Given the description of an element on the screen output the (x, y) to click on. 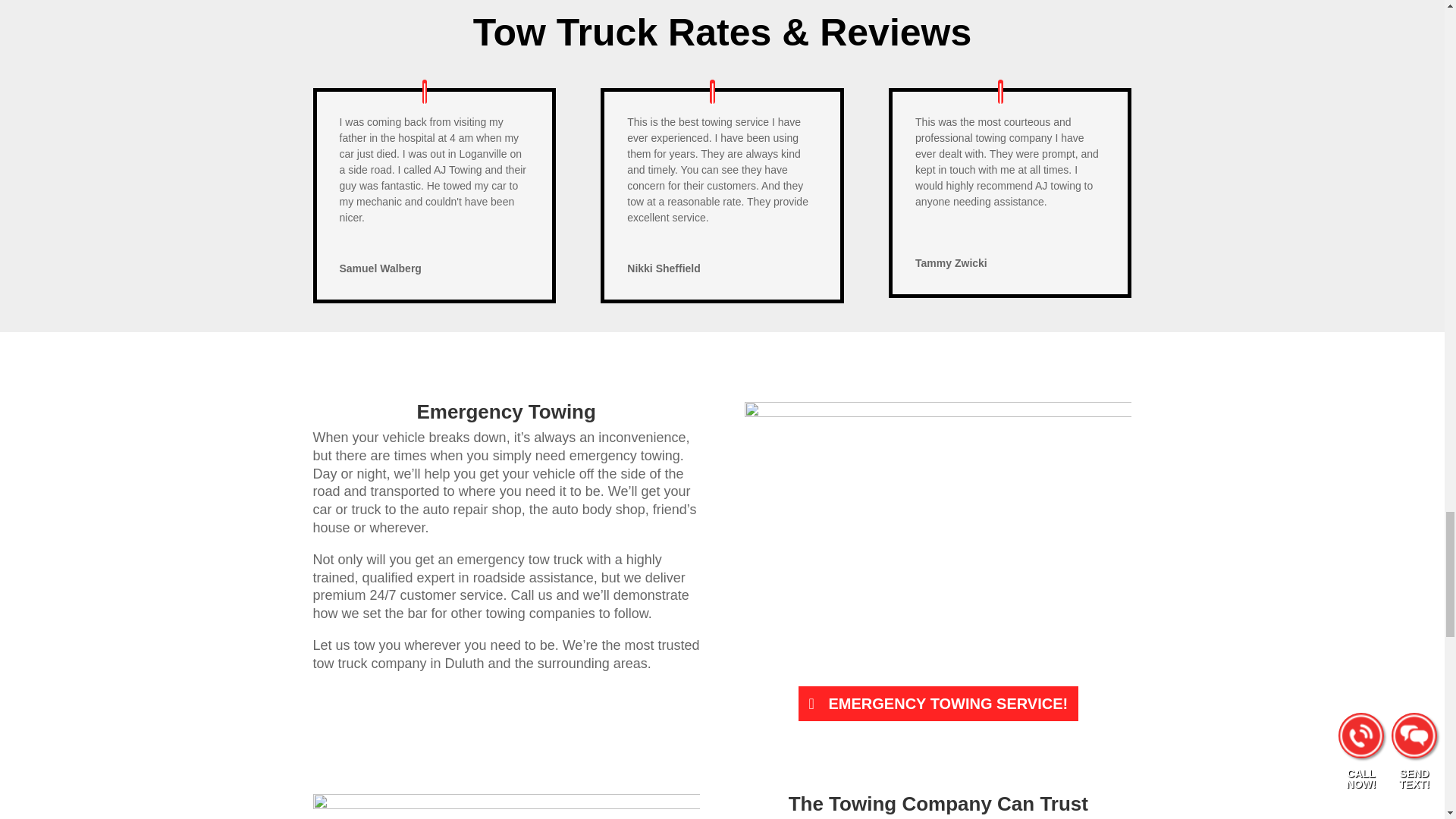
EMERGENCY TOWING SERVICE! (938, 703)
